Given the description of an element on the screen output the (x, y) to click on. 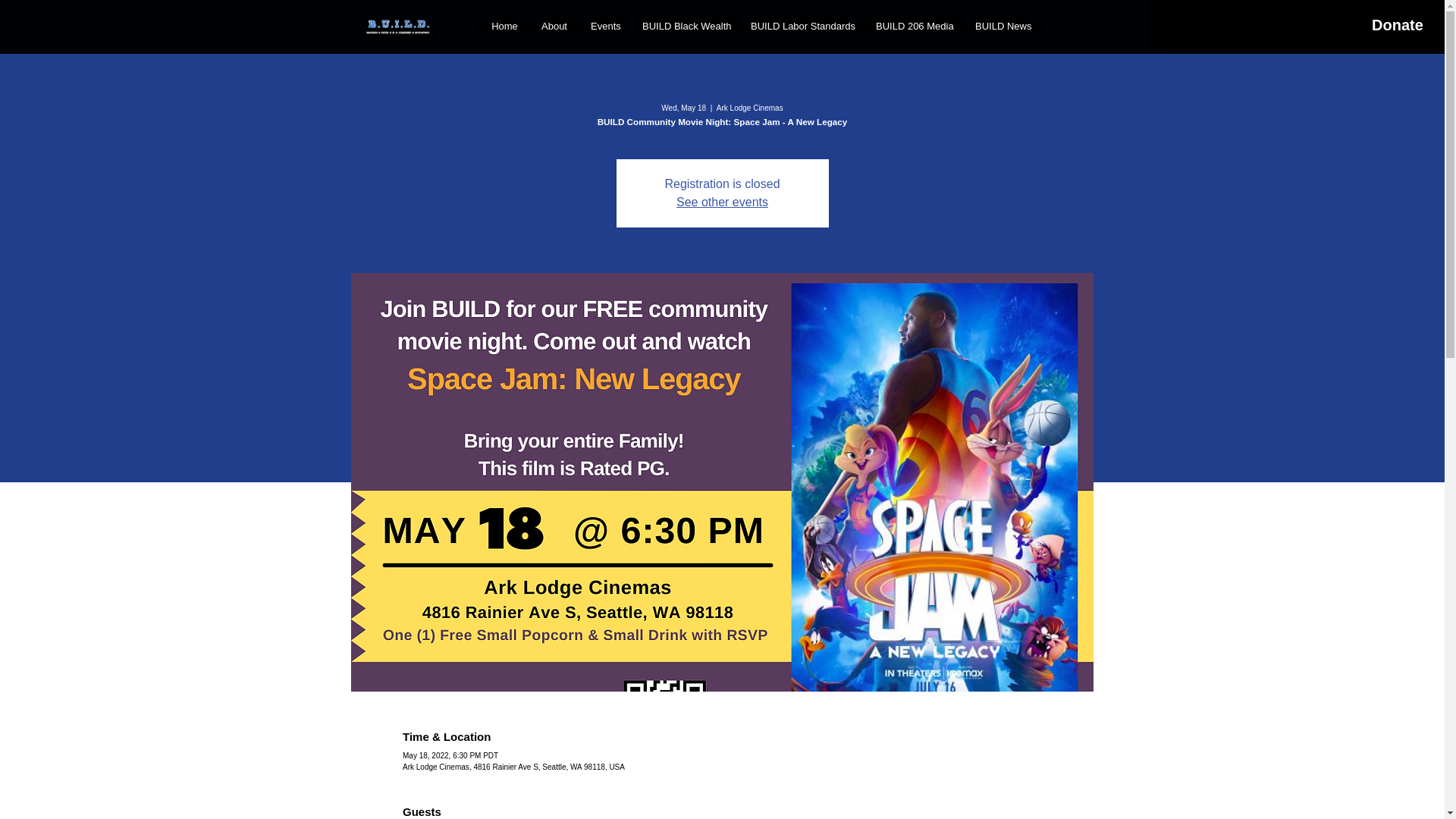
BUILD 206 Media (913, 25)
Events (604, 25)
About (554, 25)
BUILD Black Wealth (684, 25)
BUILD News (1002, 25)
Home (504, 25)
BUILD Labor Standards (801, 25)
See other events (722, 201)
